Given the description of an element on the screen output the (x, y) to click on. 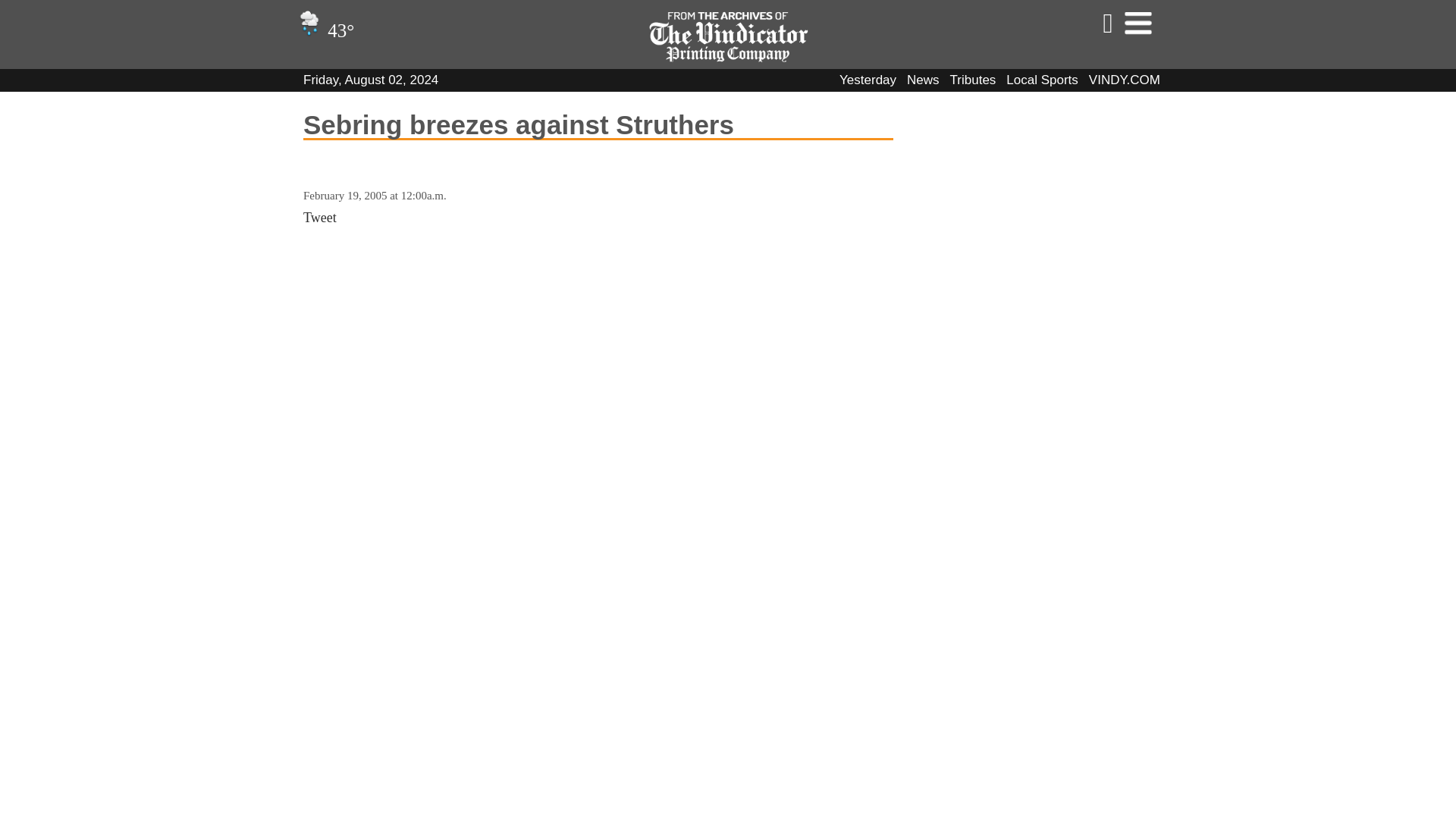
Tweet (319, 217)
VINDY.COM (1124, 79)
Friday, August 02, 2024 (370, 79)
Tributes (972, 79)
News (923, 79)
Local Sports (1042, 79)
Yesterday (868, 79)
